Given the description of an element on the screen output the (x, y) to click on. 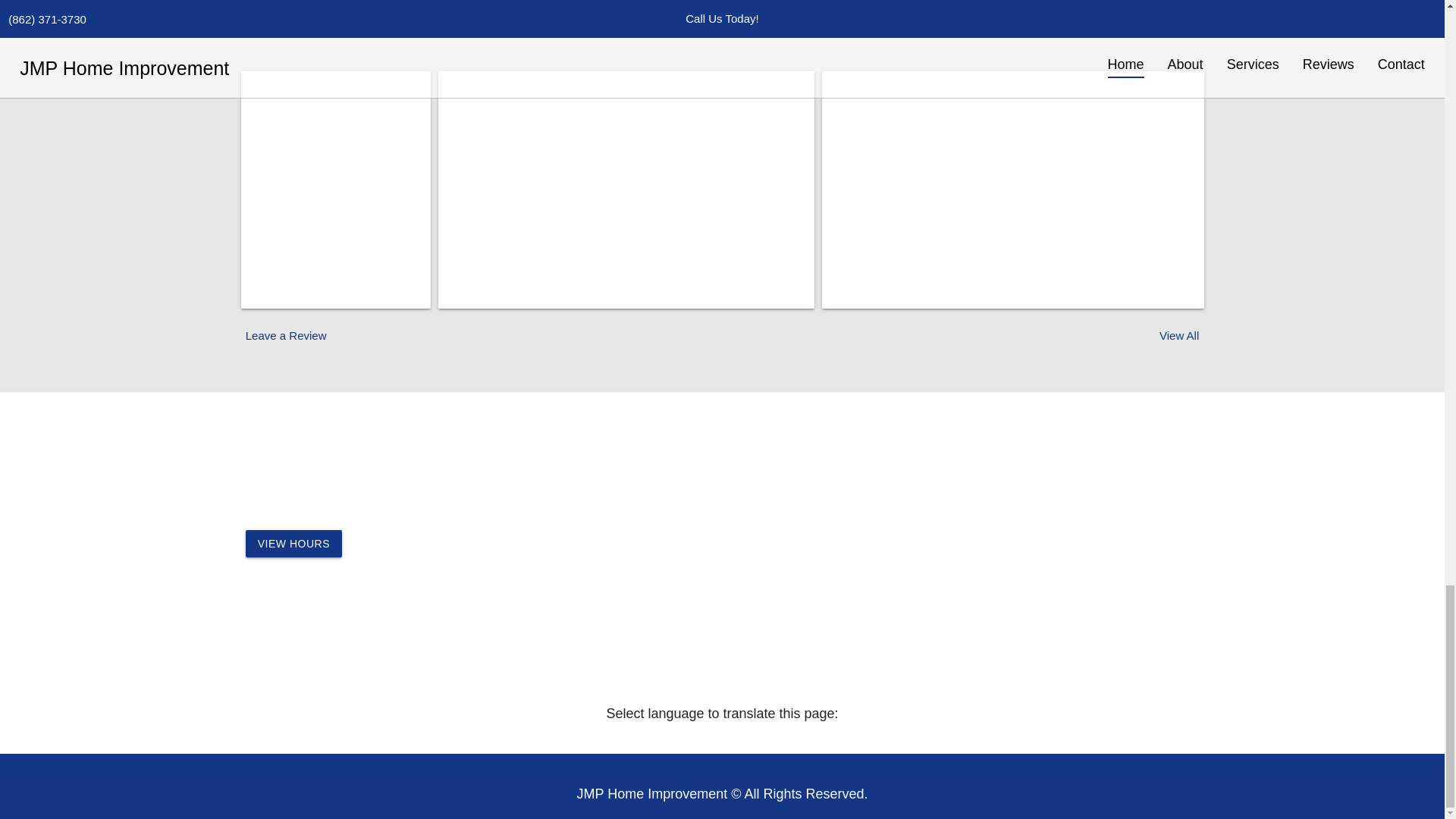
Leave a Review (286, 335)
View All (1178, 335)
VIEW HOURS (294, 543)
